Given the description of an element on the screen output the (x, y) to click on. 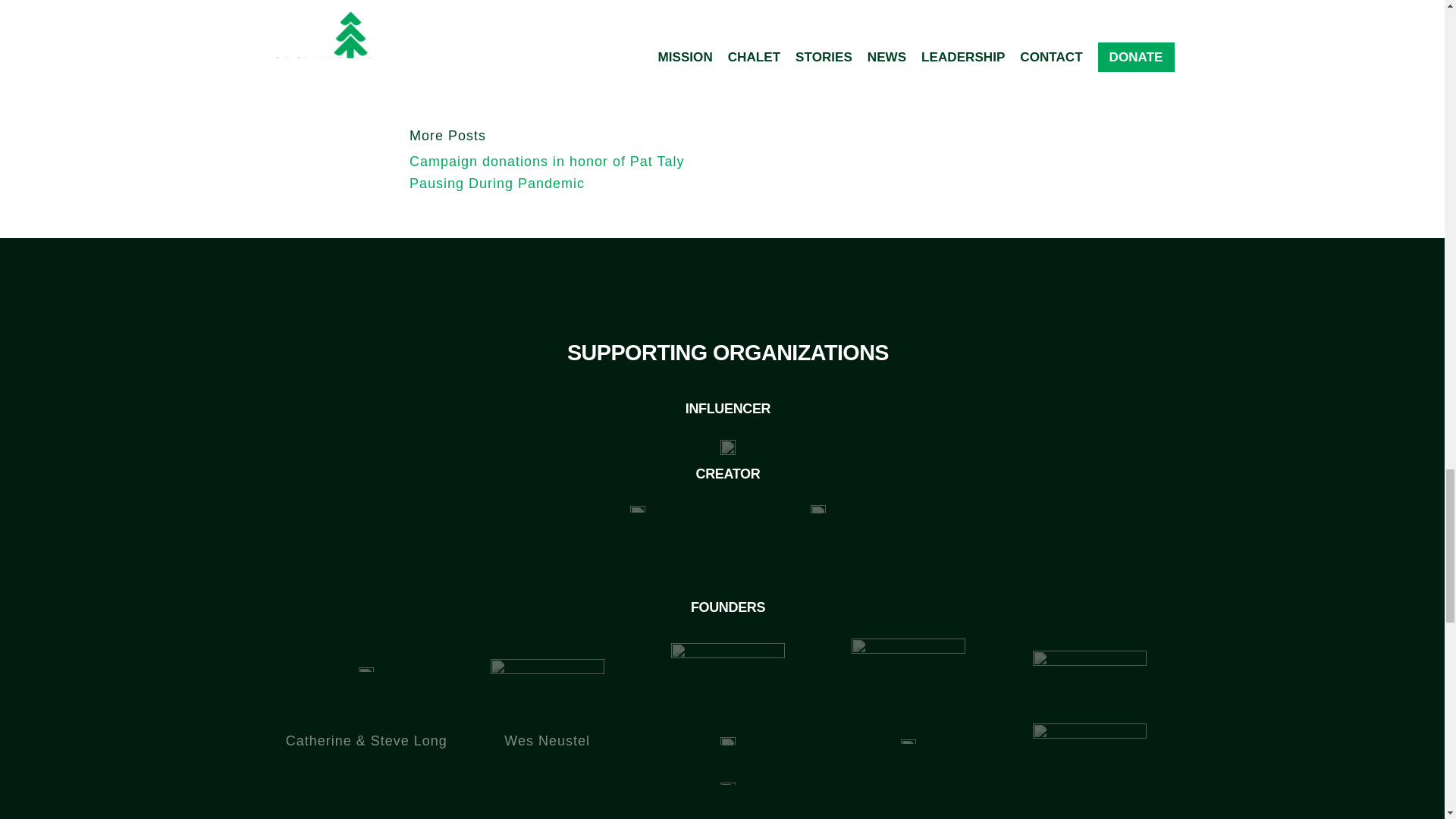
Learn how your comment data is processed (826, 2)
Pausing During Pandemic (497, 183)
Campaign donations in honor of Pat Taly (546, 160)
